Given the description of an element on the screen output the (x, y) to click on. 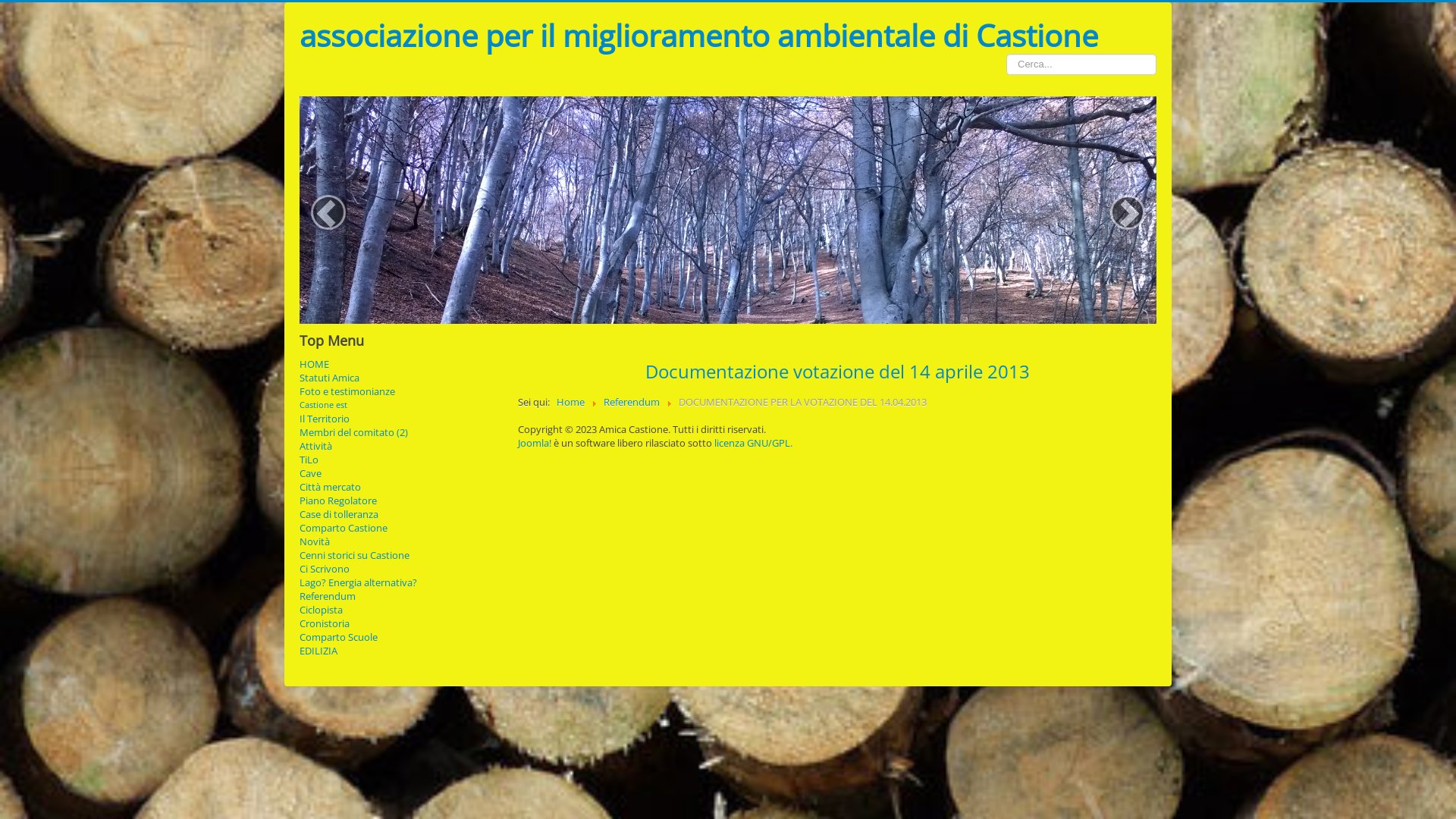
Lago? Energia alternativa? Element type: text (399, 582)
Cronistoria Element type: text (399, 623)
Membri del comitato (2) Element type: text (399, 432)
Comparto Scuole Element type: text (399, 636)
Case di tolleranza Element type: text (399, 513)
EDILIZIA Element type: text (399, 650)
Castione est Element type: text (323, 404)
Cave Element type: text (399, 473)
TiLo Element type: text (399, 459)
Statuti Amica Element type: text (399, 377)
Comparto Castione Element type: text (399, 527)
licenza GNU/GPL. Element type: text (753, 442)
Home Element type: text (570, 401)
HOME Element type: text (399, 363)
< Element type: text (327, 211)
> Element type: text (1127, 211)
Foto e testimonianze Element type: text (399, 391)
Il Territorio Element type: text (399, 418)
Joomla! Element type: text (534, 442)
Cenni storici su Castione Element type: text (399, 554)
Piano Regolatore Element type: text (399, 500)
Referendum Element type: text (399, 595)
associazione per il miglioramento ambientale di Castione Element type: text (698, 35)
Ci Scrivono Element type: text (399, 568)
Ciclopista Element type: text (399, 609)
Referendum Element type: text (631, 401)
Documentazione votazione del 14 aprile 2013 Element type: text (837, 370)
